Given the description of an element on the screen output the (x, y) to click on. 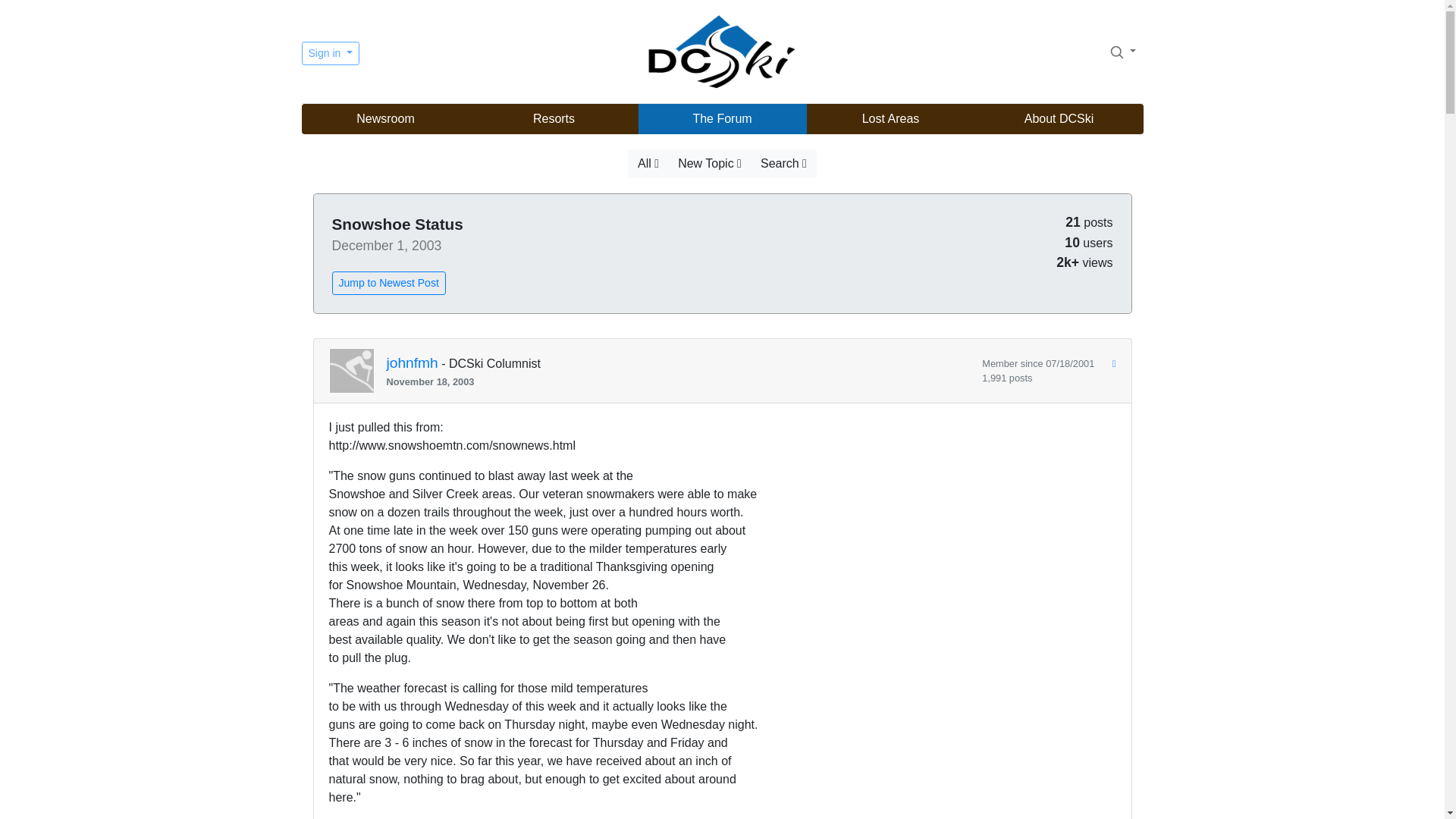
Search (1122, 51)
Newsroom (385, 119)
Jump to Newest Post (388, 282)
Search (1116, 52)
About DCSki (1058, 119)
Sign in (330, 53)
johnfmh (412, 363)
November 18, 2003 at 08:00 am (679, 381)
Resorts (554, 119)
The Forum (722, 119)
Lost Areas (890, 119)
